Given the description of an element on the screen output the (x, y) to click on. 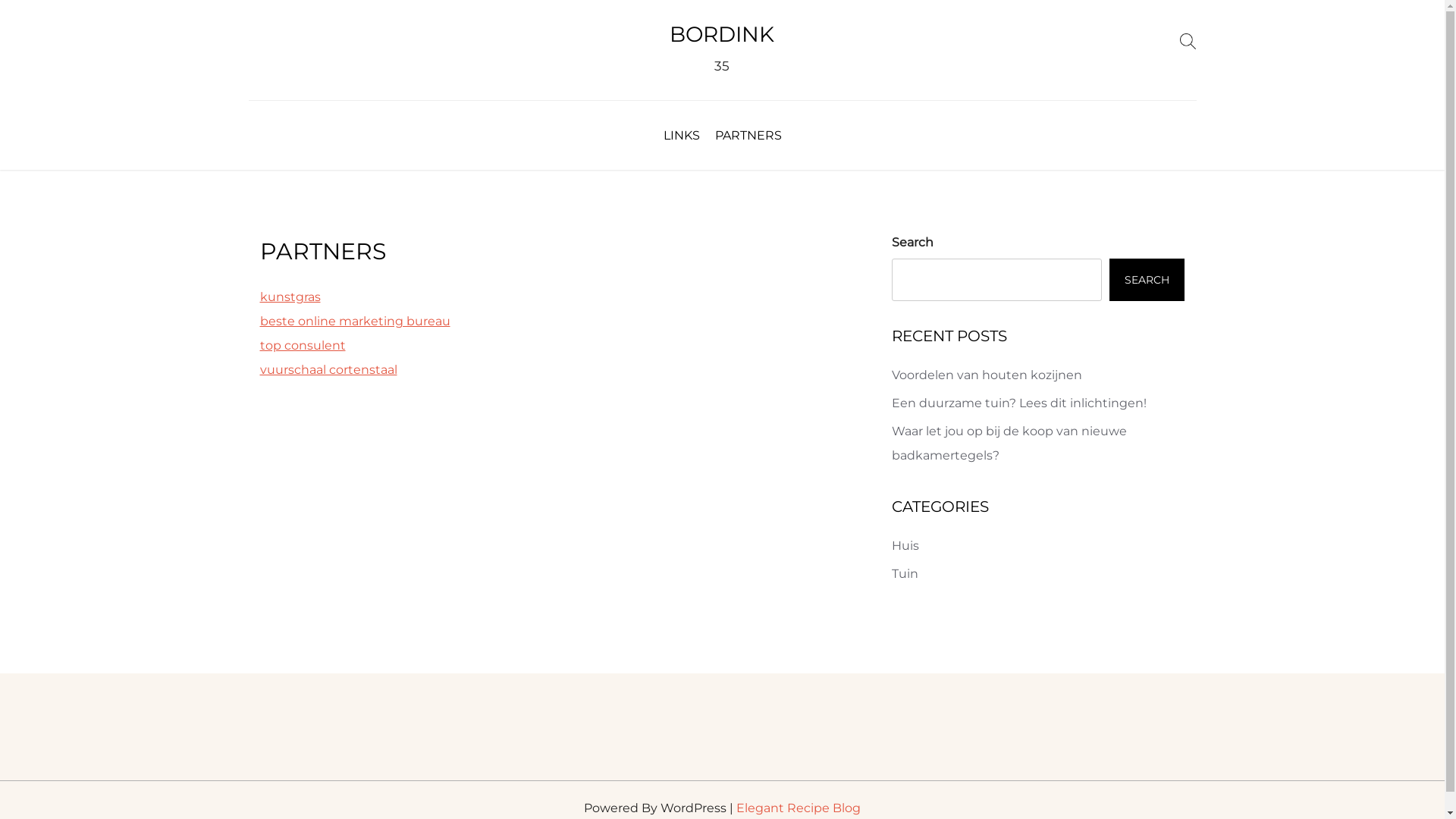
Waar let jou op bij de koop van nieuwe badkamertegels? Element type: text (1008, 442)
kunstgras Element type: text (289, 296)
LINKS Element type: text (680, 135)
Elegant Recipe Blog Element type: text (798, 807)
top consulent Element type: text (302, 345)
PARTNERS Element type: text (747, 135)
BORDINK Element type: text (721, 34)
Tuin Element type: text (904, 573)
Een duurzame tuin? Lees dit inlichtingen! Element type: text (1018, 402)
vuurschaal cortenstaal Element type: text (327, 369)
beste online marketing bureau Element type: text (354, 320)
SEARCH Element type: text (1146, 279)
Search Element type: text (1187, 40)
Voordelen van houten kozijnen Element type: text (986, 374)
Huis Element type: text (905, 545)
